Given the description of an element on the screen output the (x, y) to click on. 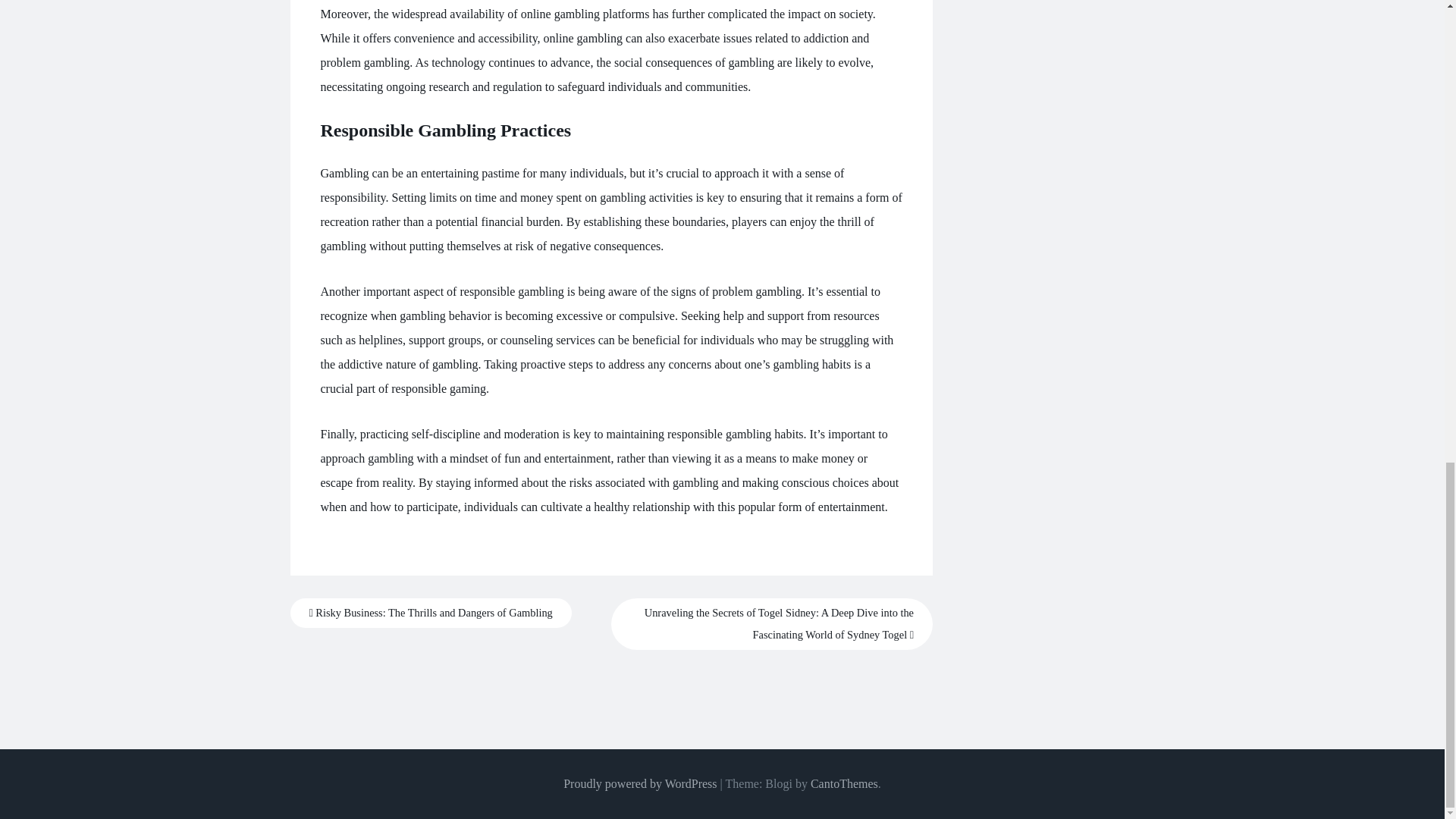
CantoThemes (843, 783)
Risky Business: The Thrills and Dangers of Gambling (429, 613)
Proudly powered by WordPress (639, 783)
